Given the description of an element on the screen output the (x, y) to click on. 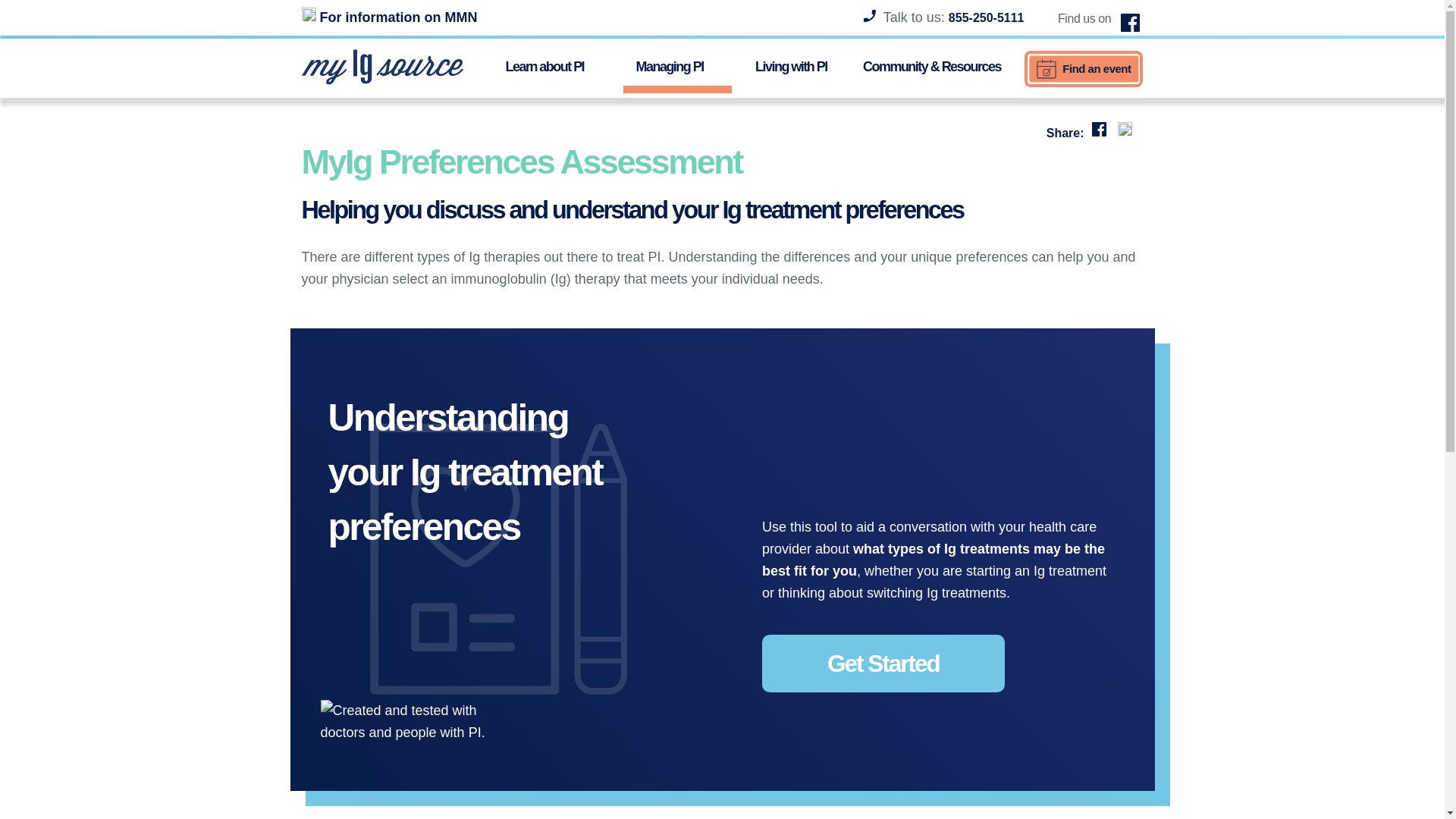
Get Started (882, 663)
Learn about PI (552, 65)
Living with PI (791, 65)
Managing PI (676, 69)
855-250-5111 (987, 17)
For information on MMN (389, 17)
Find an event (1083, 68)
